Given the description of an element on the screen output the (x, y) to click on. 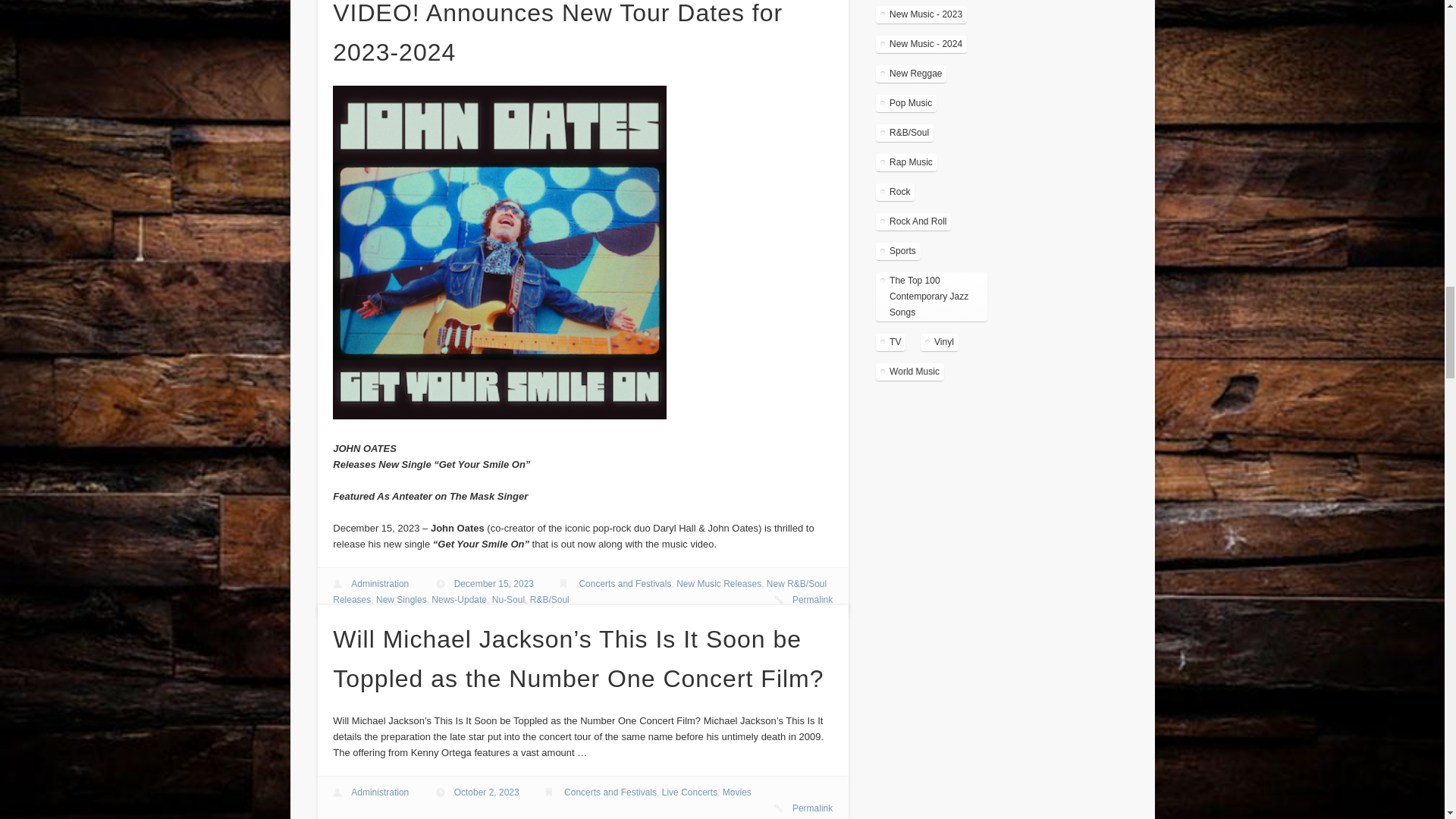
Posts by Administration (379, 583)
